Given the description of an element on the screen output the (x, y) to click on. 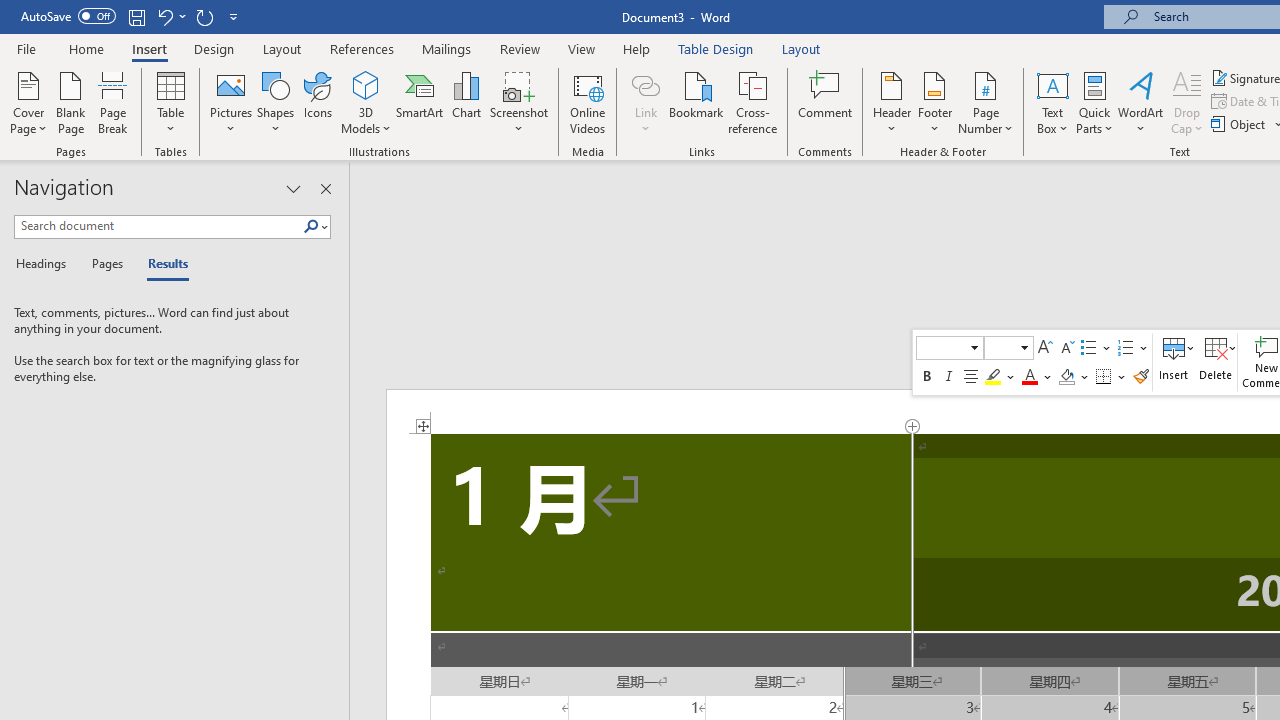
Font Color (1037, 376)
Search document (157, 226)
Table Design (715, 48)
Icons (317, 102)
3D Models (366, 102)
Page Break (113, 102)
Undo Apply Quick Style (164, 15)
Shapes (275, 102)
Text Box (1052, 102)
Text Highlight Color (999, 376)
Header (891, 102)
